Given the description of an element on the screen output the (x, y) to click on. 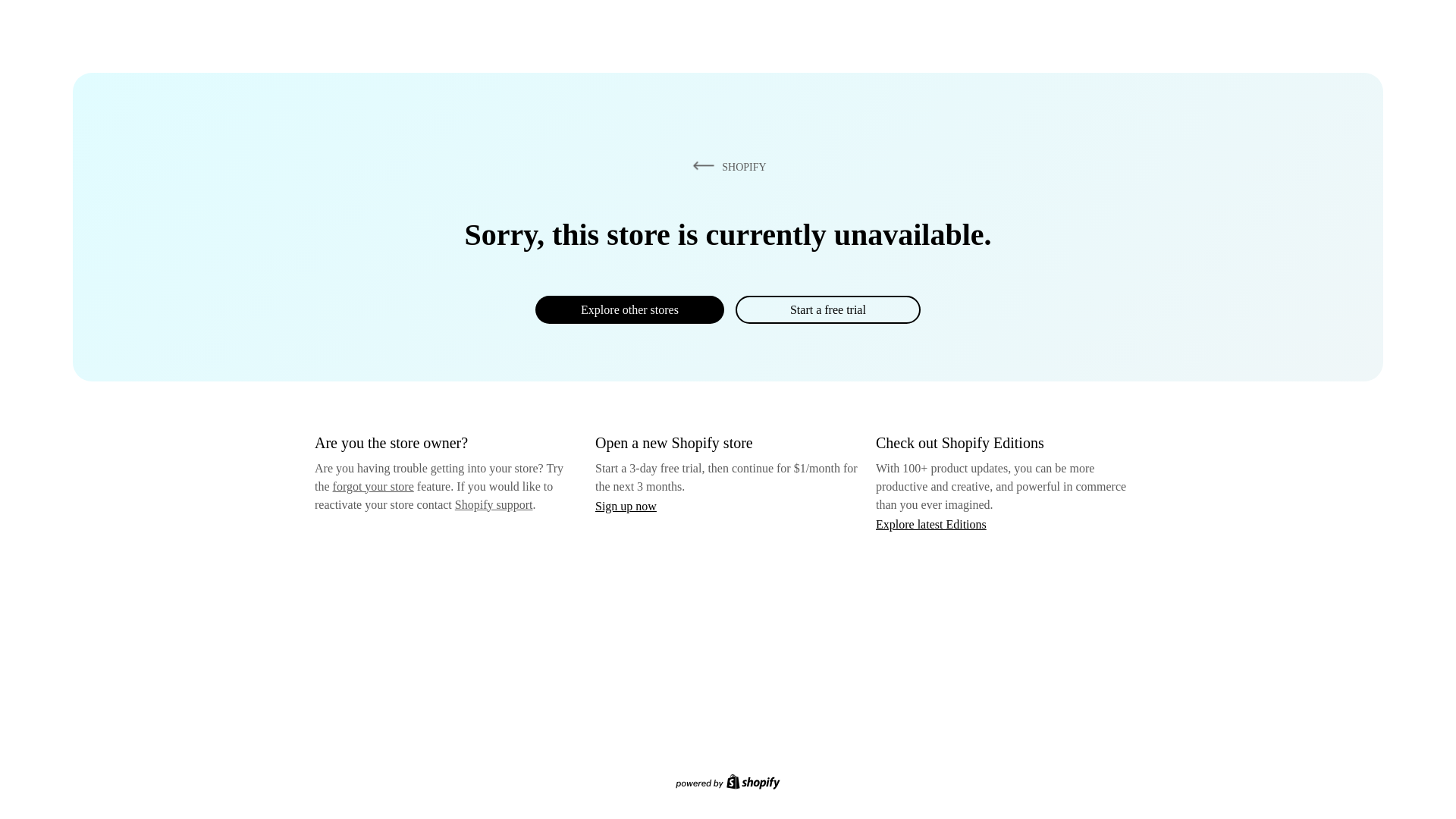
Sign up now (625, 505)
Explore latest Editions (931, 523)
Explore other stores (629, 309)
Shopify support (493, 504)
SHOPIFY (726, 166)
Start a free trial (827, 309)
forgot your store (373, 486)
